Given the description of an element on the screen output the (x, y) to click on. 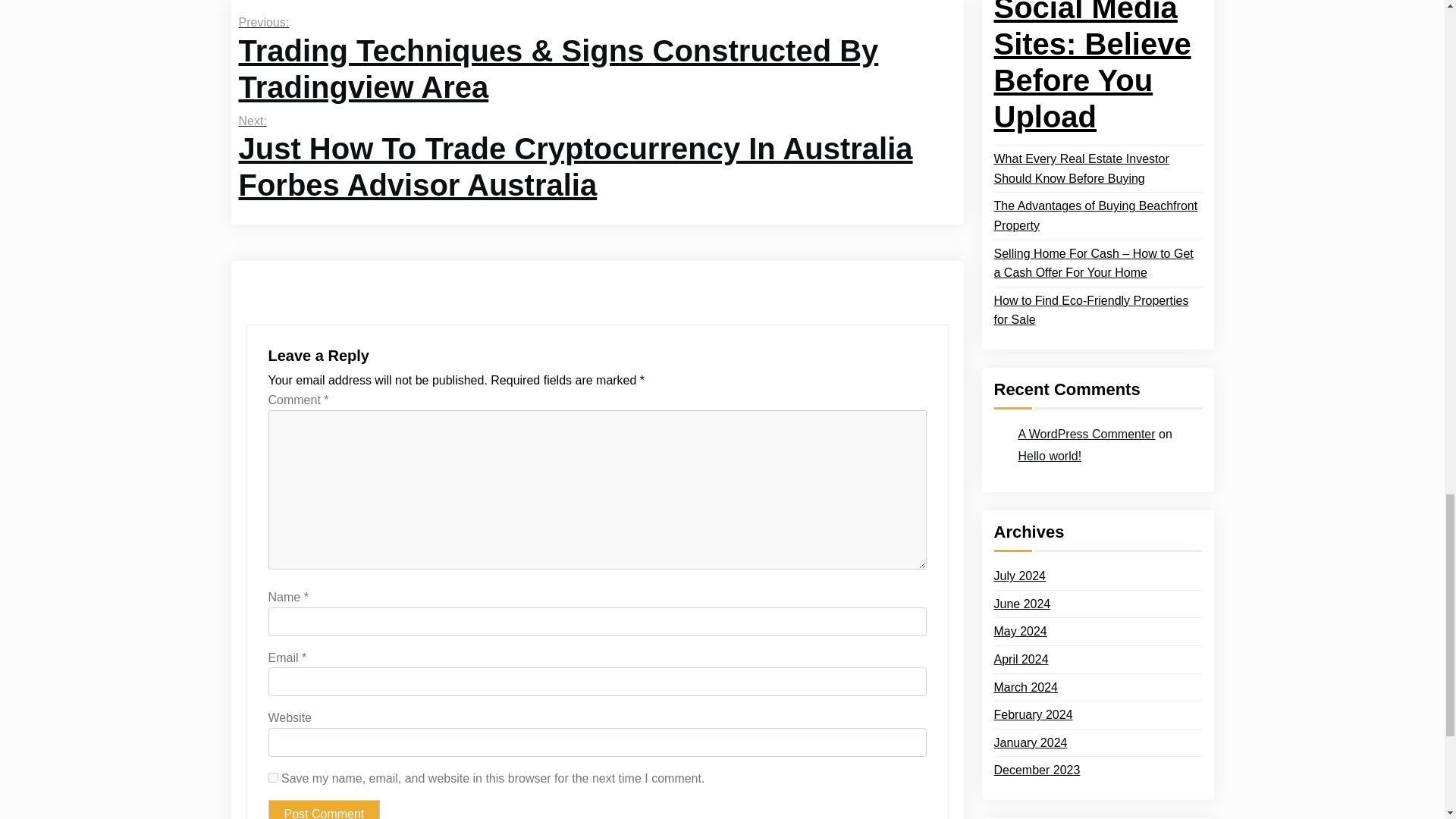
Post Comment (323, 809)
yes (272, 777)
Post Comment (323, 809)
